Given the description of an element on the screen output the (x, y) to click on. 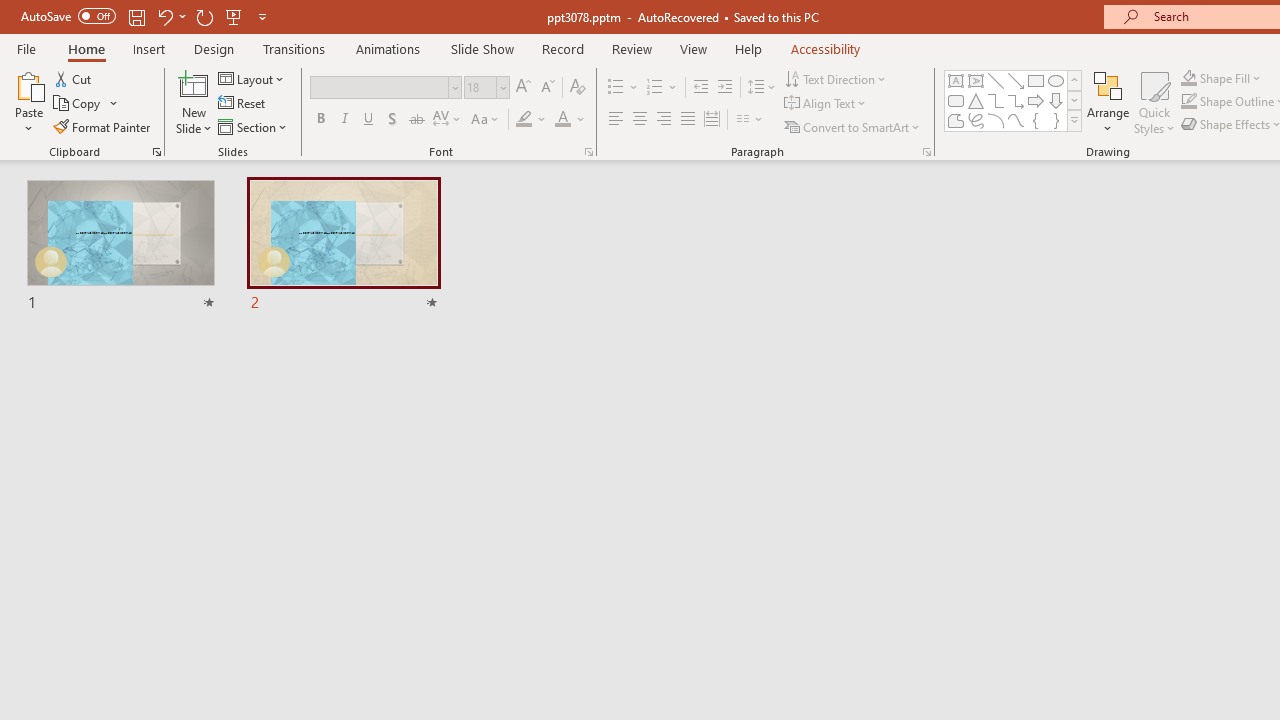
Align Right (663, 119)
Rectangle (1035, 80)
Transitions (294, 48)
Line Arrow (1016, 80)
Redo (204, 15)
Section (254, 126)
Font Color (569, 119)
Record (562, 48)
Animations (388, 48)
Layout (252, 78)
Connector: Elbow Arrow (1016, 100)
Copy (85, 103)
Freeform: Scribble (975, 120)
AutoSave (68, 16)
Font Size (486, 87)
